Given the description of an element on the screen output the (x, y) to click on. 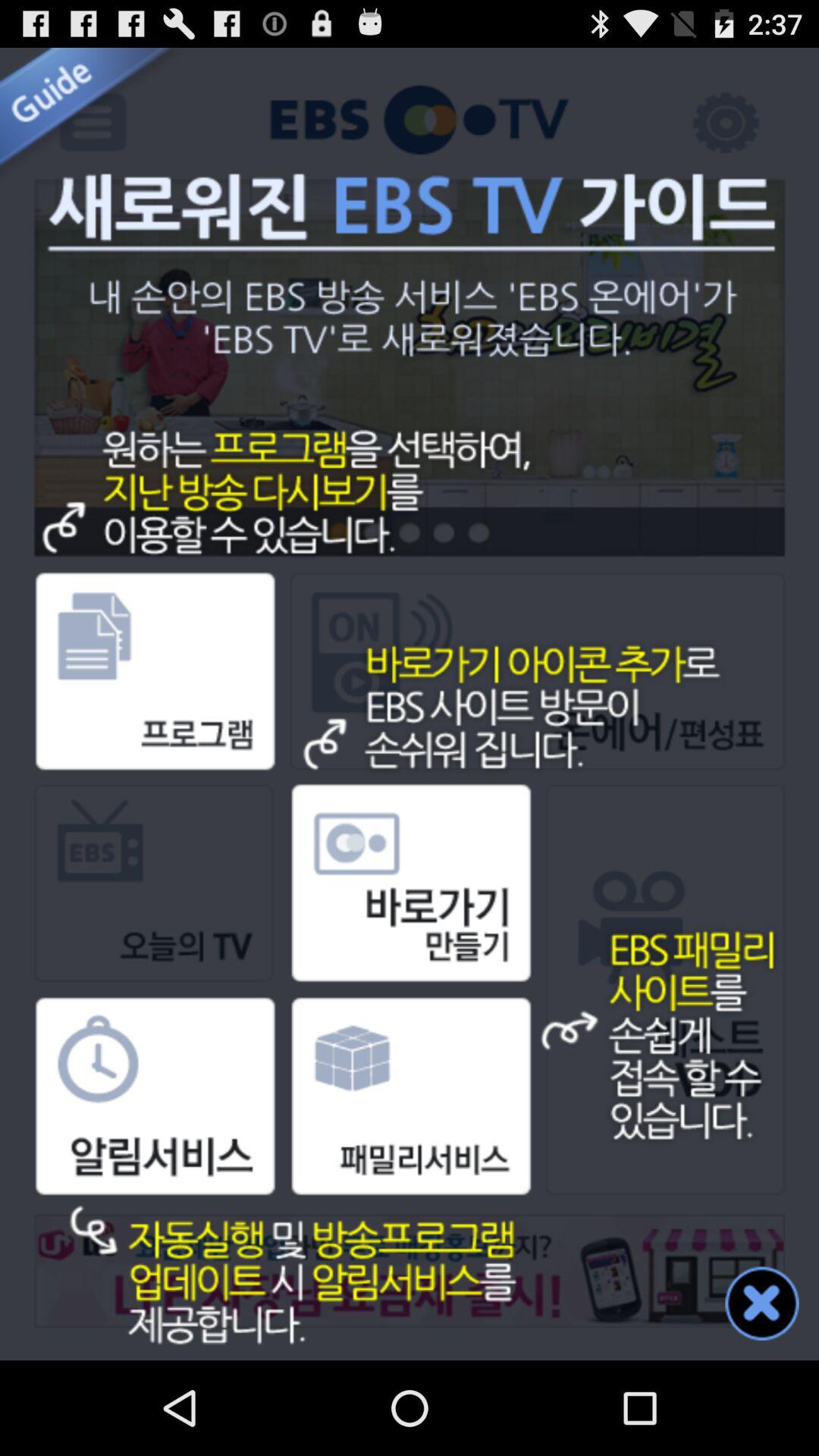
click on close icon (762, 1302)
select the clock box image option (184, 1128)
select the text which is above the cube (408, 933)
